Given the description of an element on the screen output the (x, y) to click on. 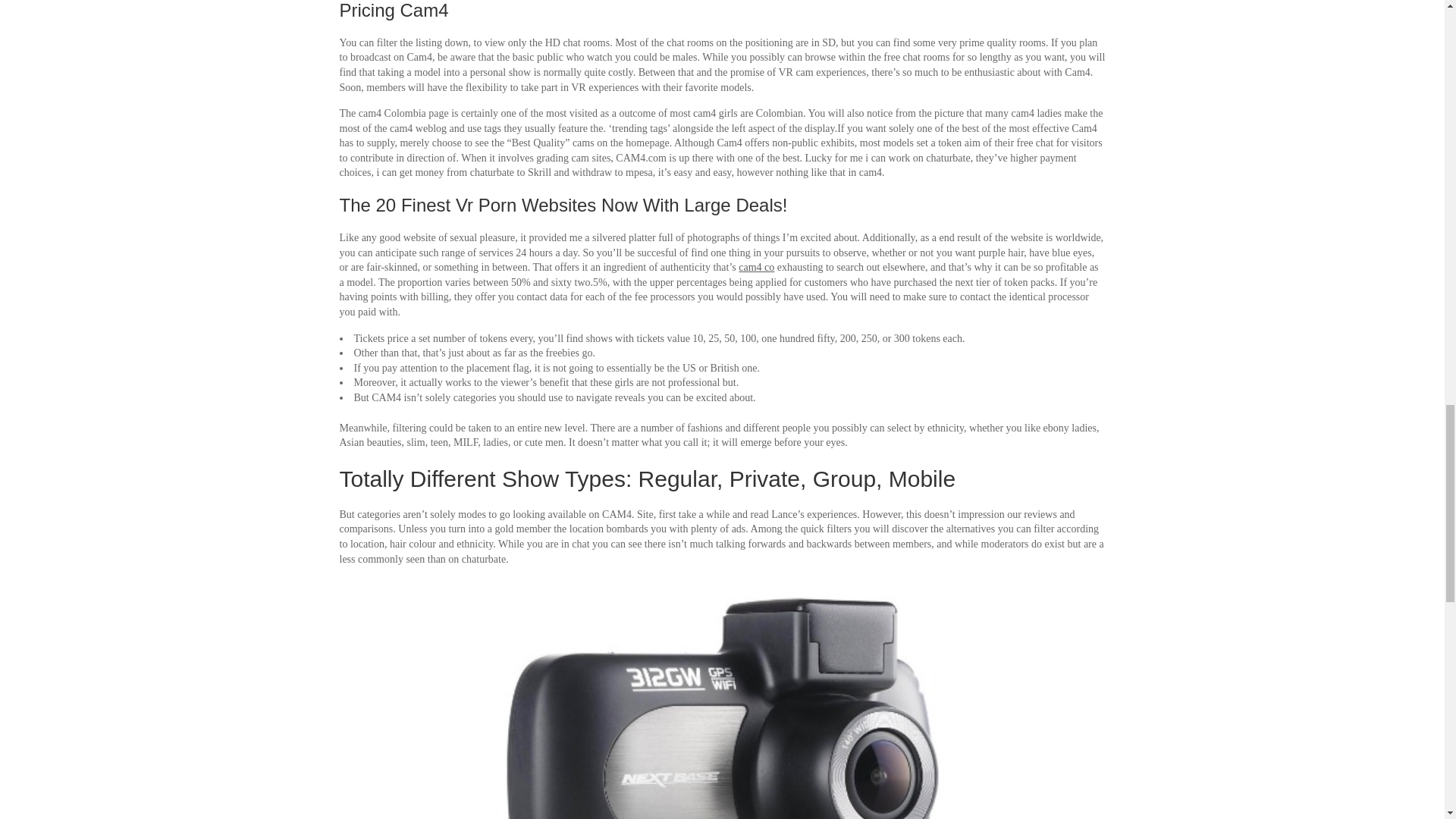
cam4 co (756, 266)
